Given the description of an element on the screen output the (x, y) to click on. 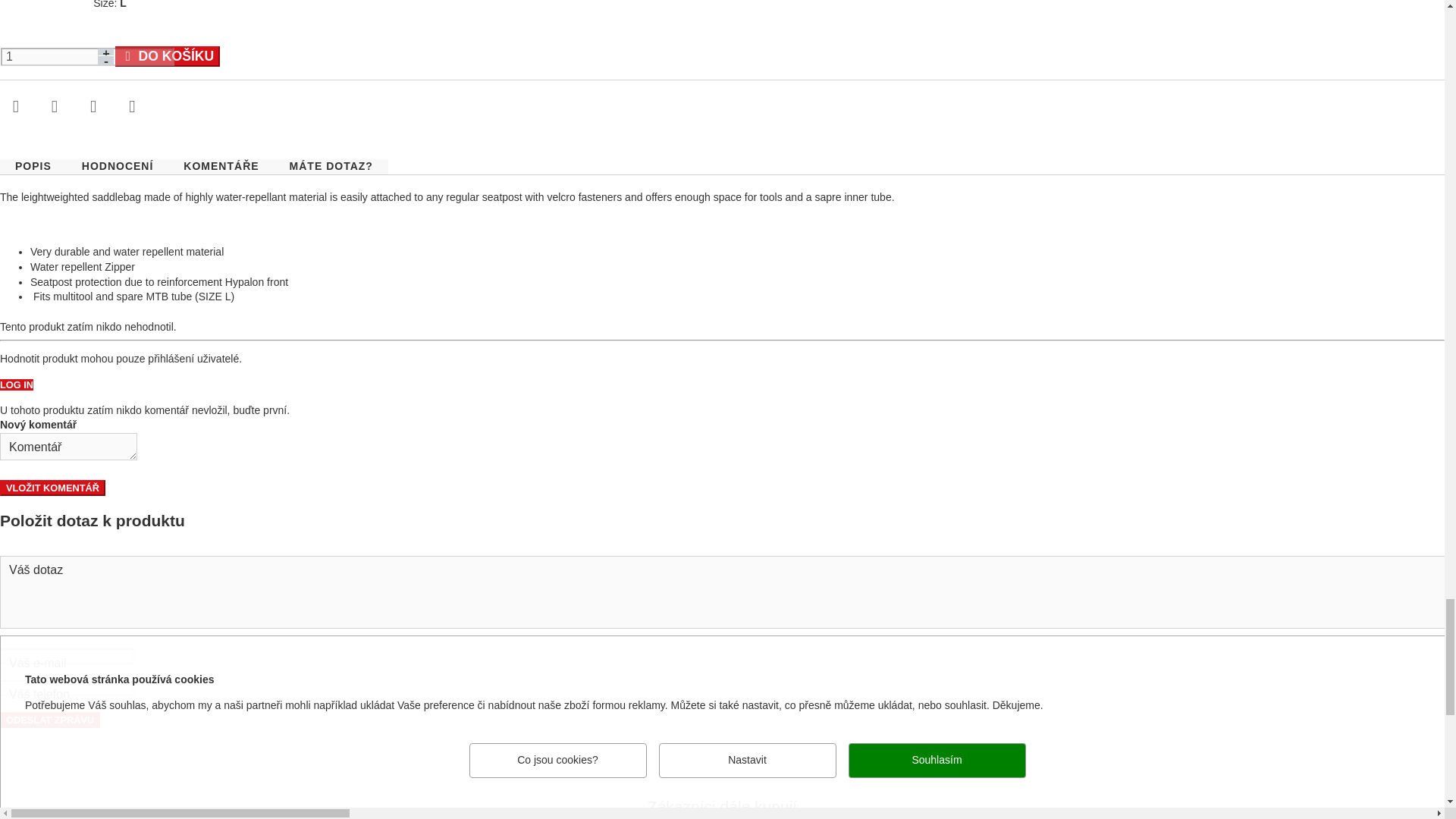
email (361, 656)
Poslat e-mailem (15, 107)
1 (87, 56)
